Given the description of an element on the screen output the (x, y) to click on. 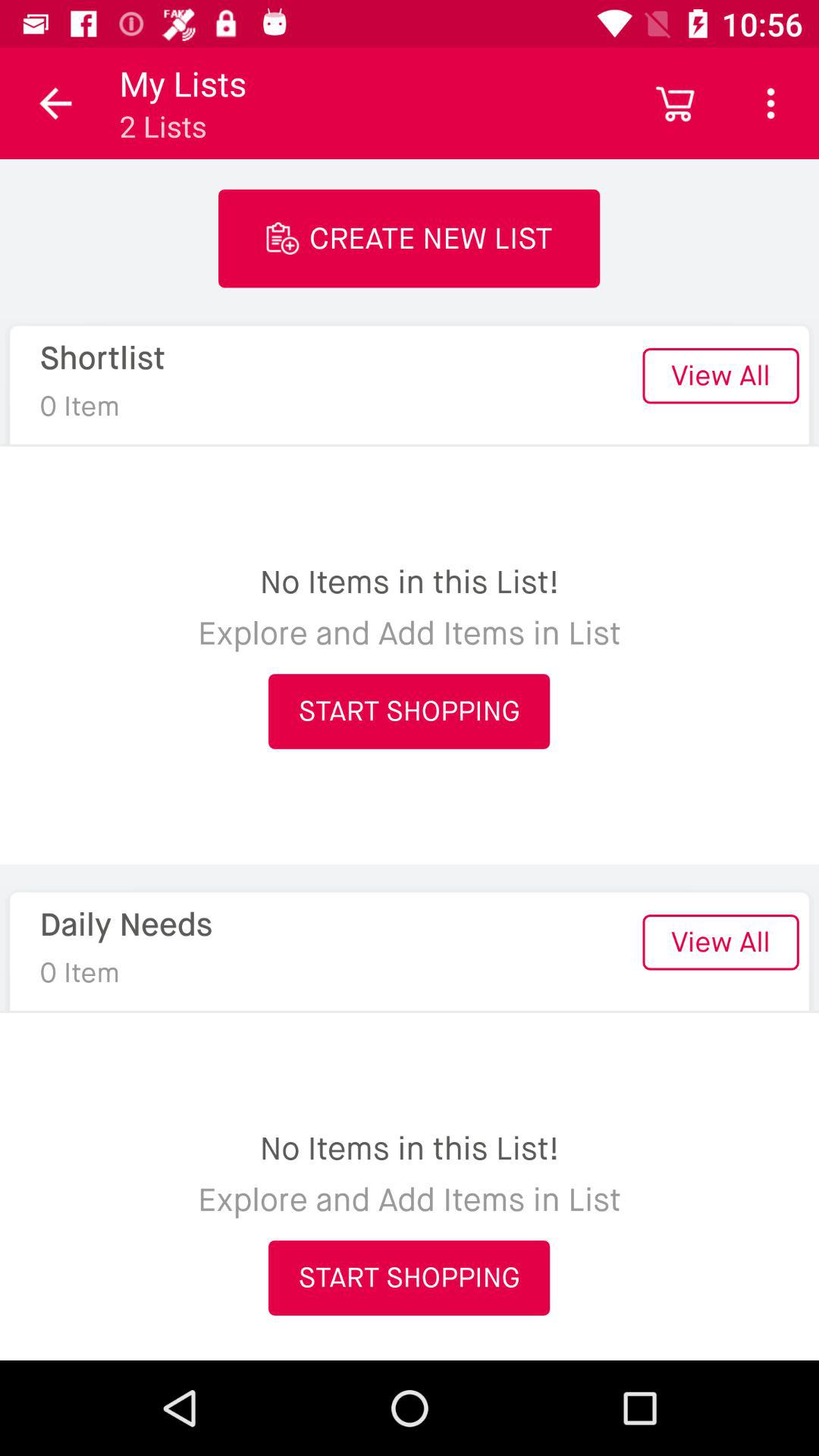
turn off icon above the view all item (675, 103)
